Given the description of an element on the screen output the (x, y) to click on. 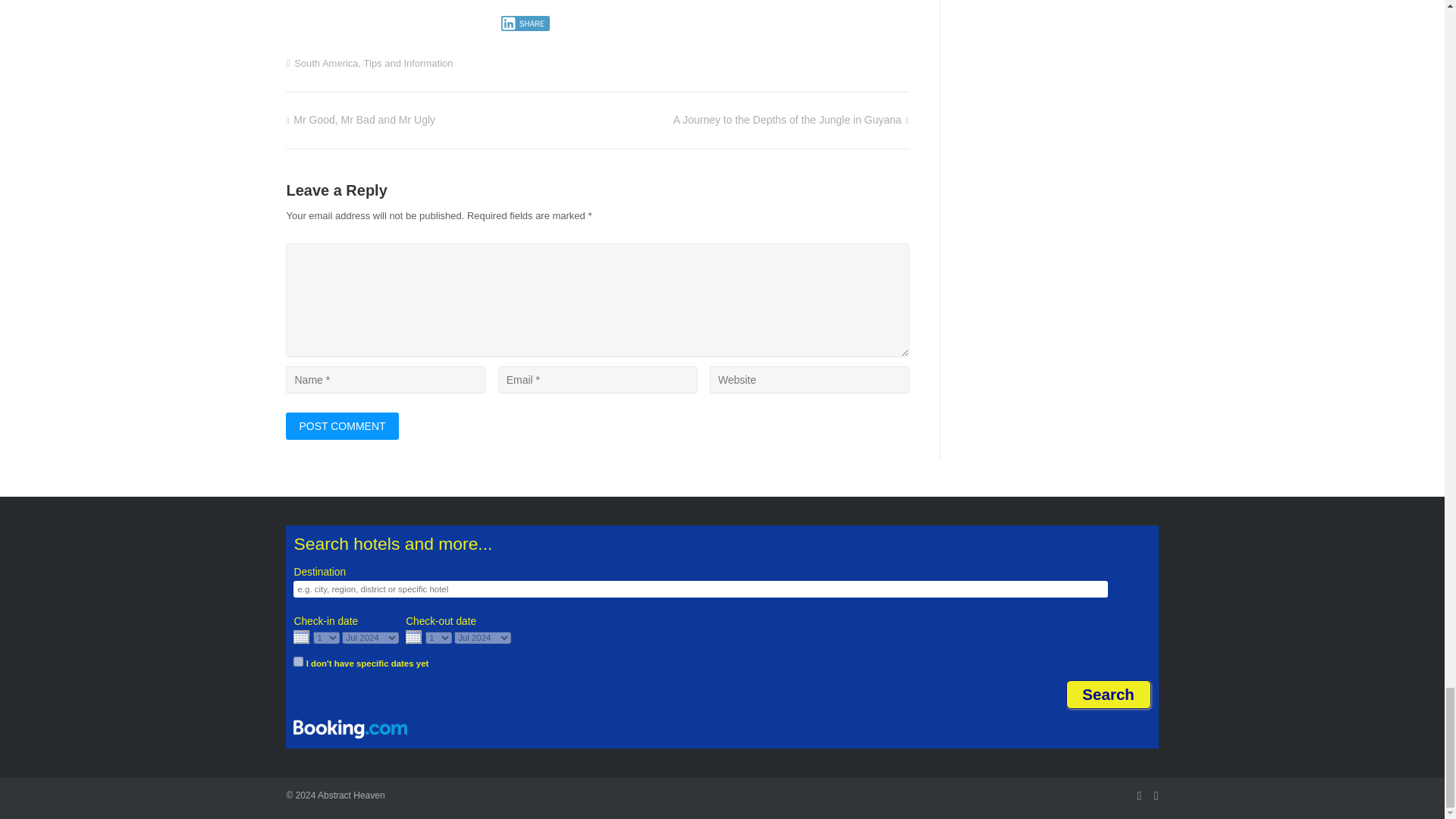
Open calendar and pick a date (301, 638)
Post Comment (341, 425)
Open calendar and pick a date (414, 638)
A Journey to the Depths of the Jungle in Guyana (790, 119)
SHARE (525, 23)
South America (326, 62)
e.g. city, region, district or specific hotel (701, 588)
on (298, 661)
Tips and Information (408, 62)
Mr Good, Mr Bad and Mr Ugly (360, 119)
Open calendar and pick a date (301, 636)
Search (1108, 694)
Abstract Heaven (351, 795)
Facebook (1139, 795)
Instagram (1156, 795)
